Given the description of an element on the screen output the (x, y) to click on. 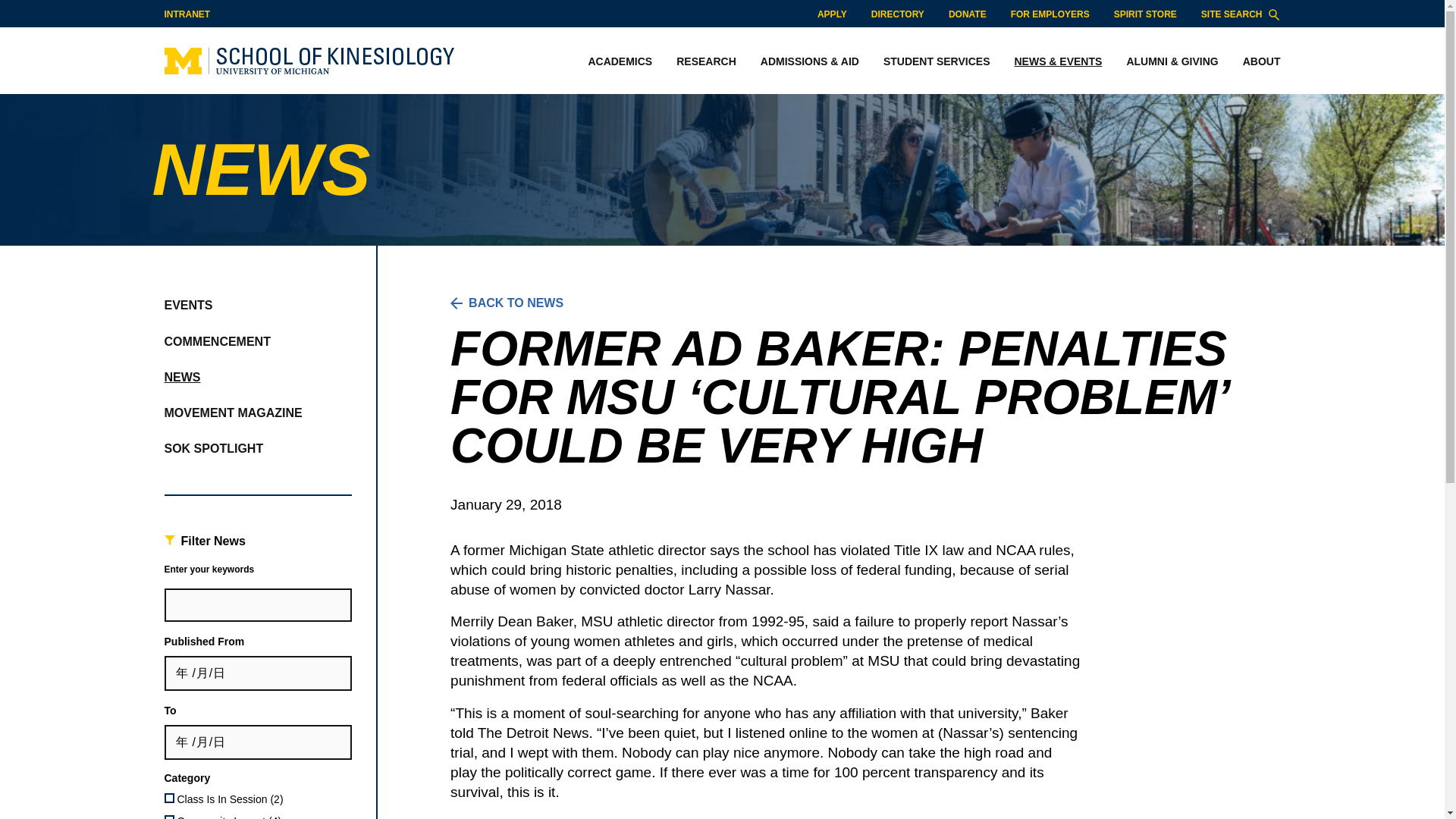
ACADEMICS (619, 61)
STUDENT SERVICES (936, 61)
BACK TO NEWS (858, 303)
SOK SPOTLIGHT (213, 448)
DONATE (968, 14)
DIRECTORY (897, 14)
Search (1273, 14)
APPLY (831, 14)
ABOUT (1255, 61)
NEWS (181, 377)
Kines Spirit Store (1144, 14)
FOR EMPLOYERS (1049, 14)
RESEARCH (705, 61)
COMMENCEMENT (216, 341)
SPIRIT STORE (1144, 14)
